Given the description of an element on the screen output the (x, y) to click on. 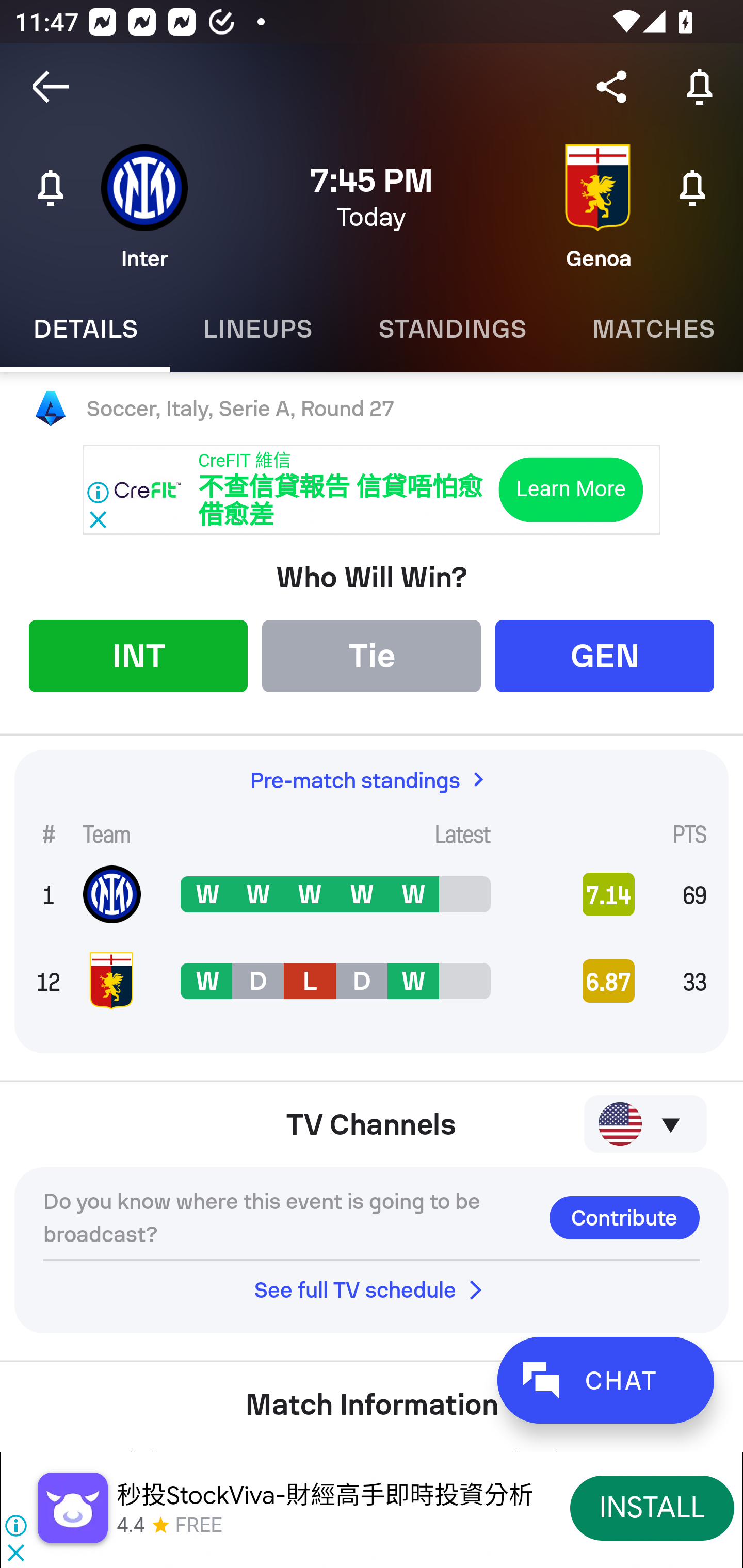
Navigate up (50, 86)
Lineups LINEUPS (257, 329)
Standings STANDINGS (451, 329)
Matches MATCHES (650, 329)
Soccer, Italy, Serie A, Round 27 (371, 409)
INT (137, 655)
Tie (371, 655)
GEN (604, 655)
Contribute (624, 1217)
See full TV schedule (371, 1289)
CHAT (605, 1380)
INSTALL (652, 1507)
秒投StockViva-財經高手即時投資分析 (324, 1494)
